Given the description of an element on the screen output the (x, y) to click on. 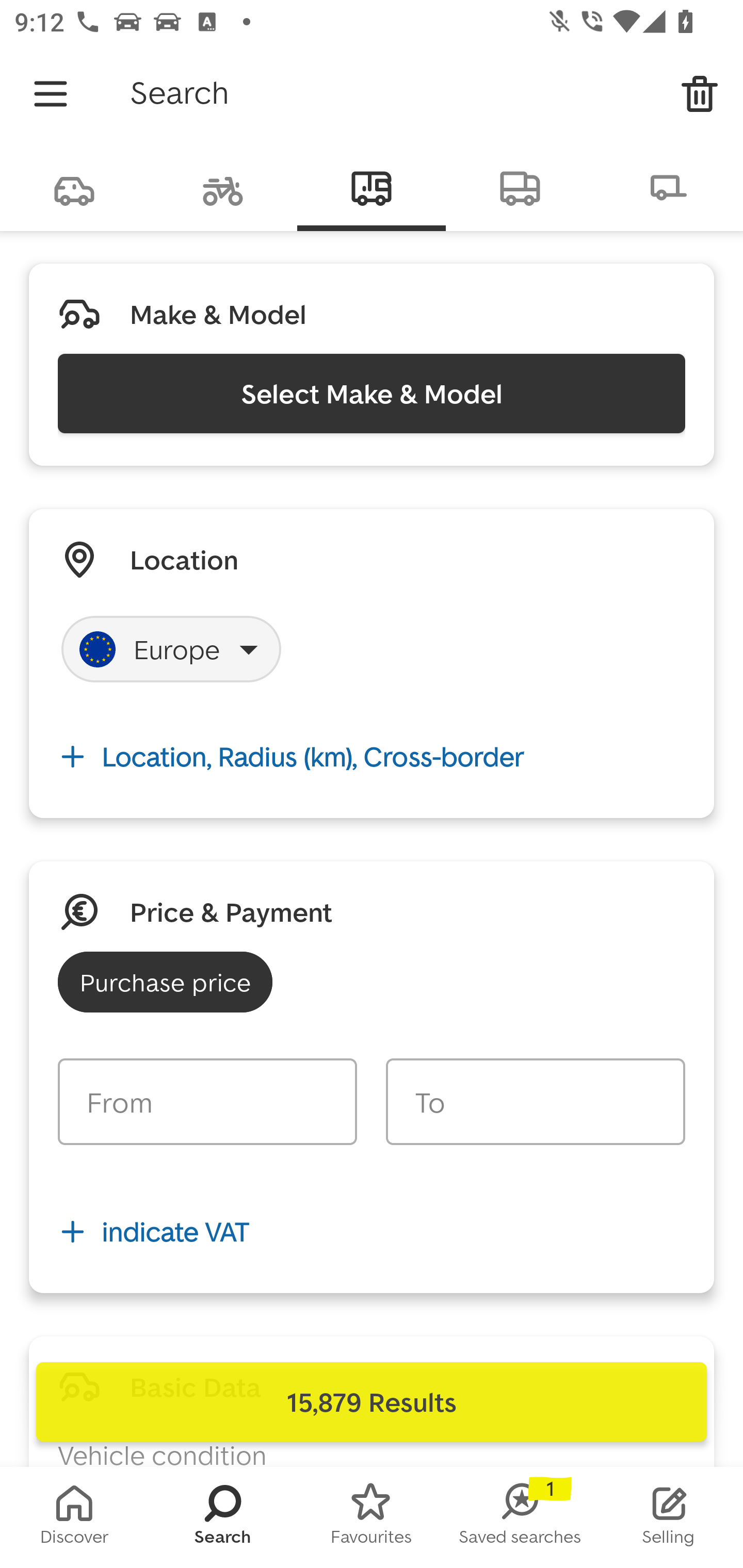
Navigate up (50, 93)
New search (699, 93)
CAR_SEARCH (74, 187)
BIKE_SEARCH (222, 187)
TRUCKS_SEARCH (519, 187)
TRAILERS_SEARCH (668, 187)
Make & Model (218, 314)
Select Make & Model (371, 393)
Location (184, 559)
Europe (170, 648)
Location, Radius (km), Cross-border (371, 756)
Price & Payment (231, 911)
Purchase price (164, 981)
From (207, 1101)
To (535, 1101)
indicate VAT (371, 1231)
15,879 Results (371, 1401)
HOMESCREEN Discover (74, 1517)
SEARCH Search (222, 1517)
FAVORITES Favourites (371, 1517)
SAVED_SEARCHES Saved searches 1 (519, 1517)
STOCK_LIST Selling (668, 1517)
